Given the description of an element on the screen output the (x, y) to click on. 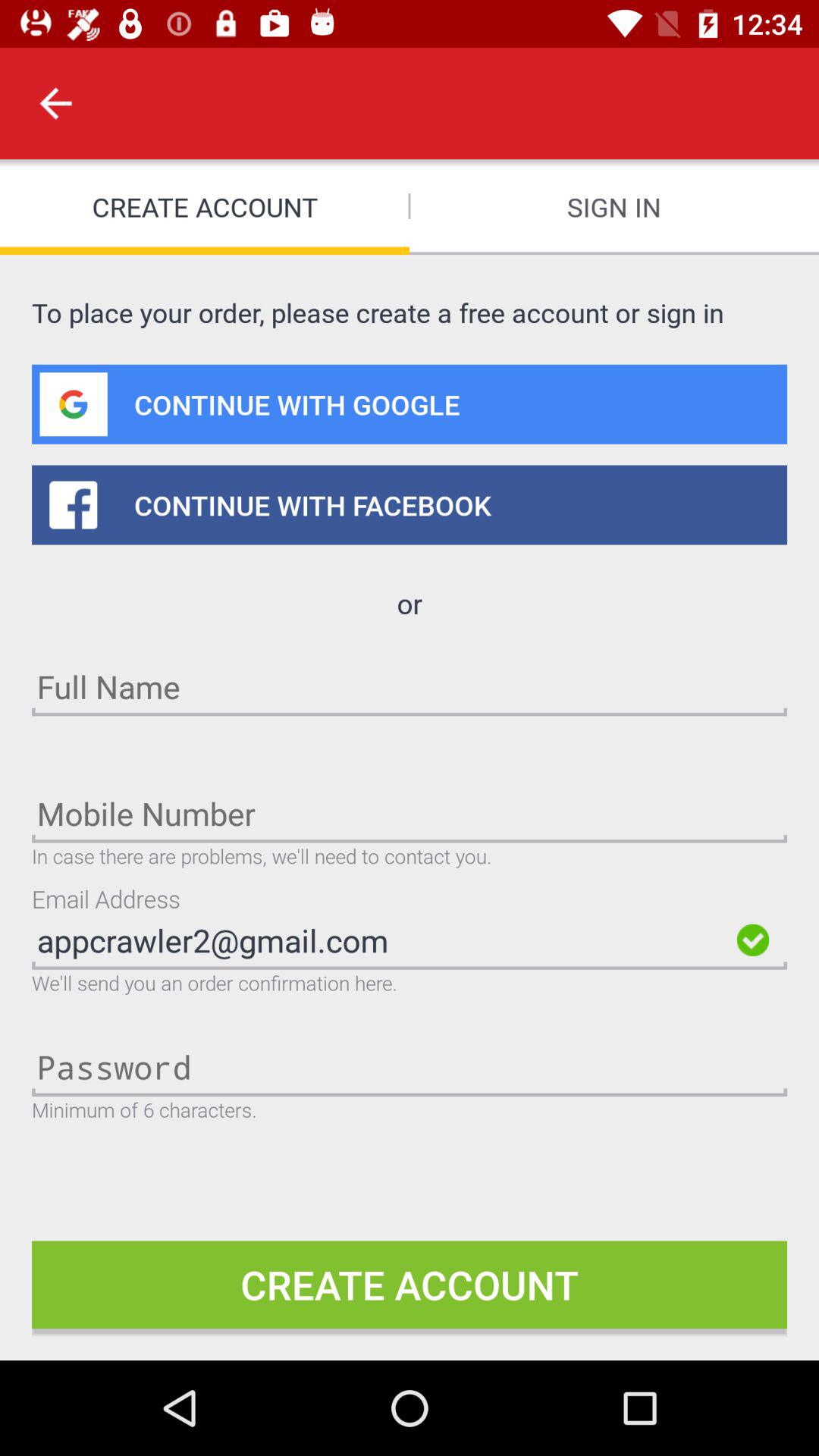
swipe until appcrawler2@gmail.com (380, 939)
